Given the description of an element on the screen output the (x, y) to click on. 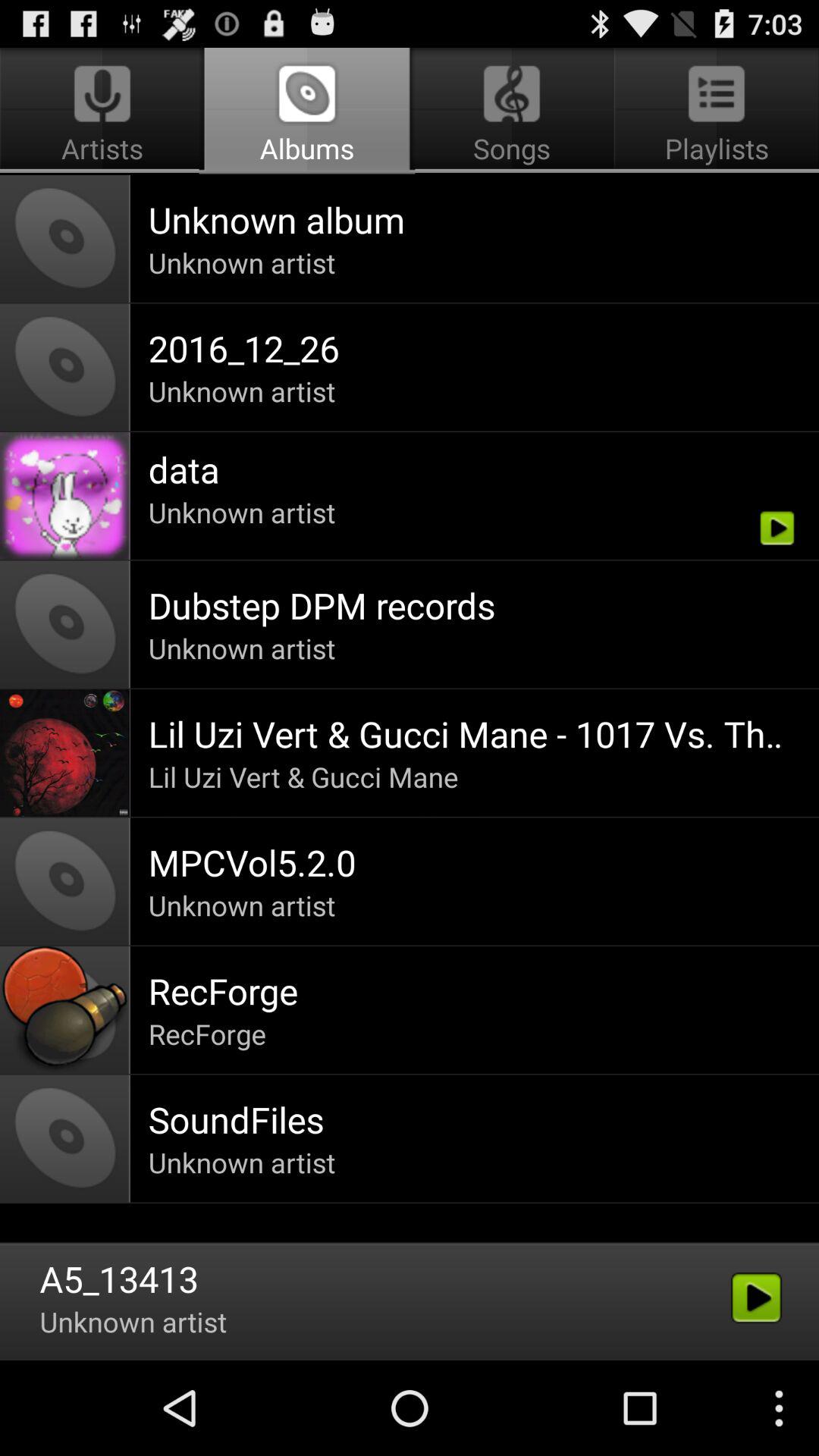
click icon next to the songs app (105, 111)
